Given the description of an element on the screen output the (x, y) to click on. 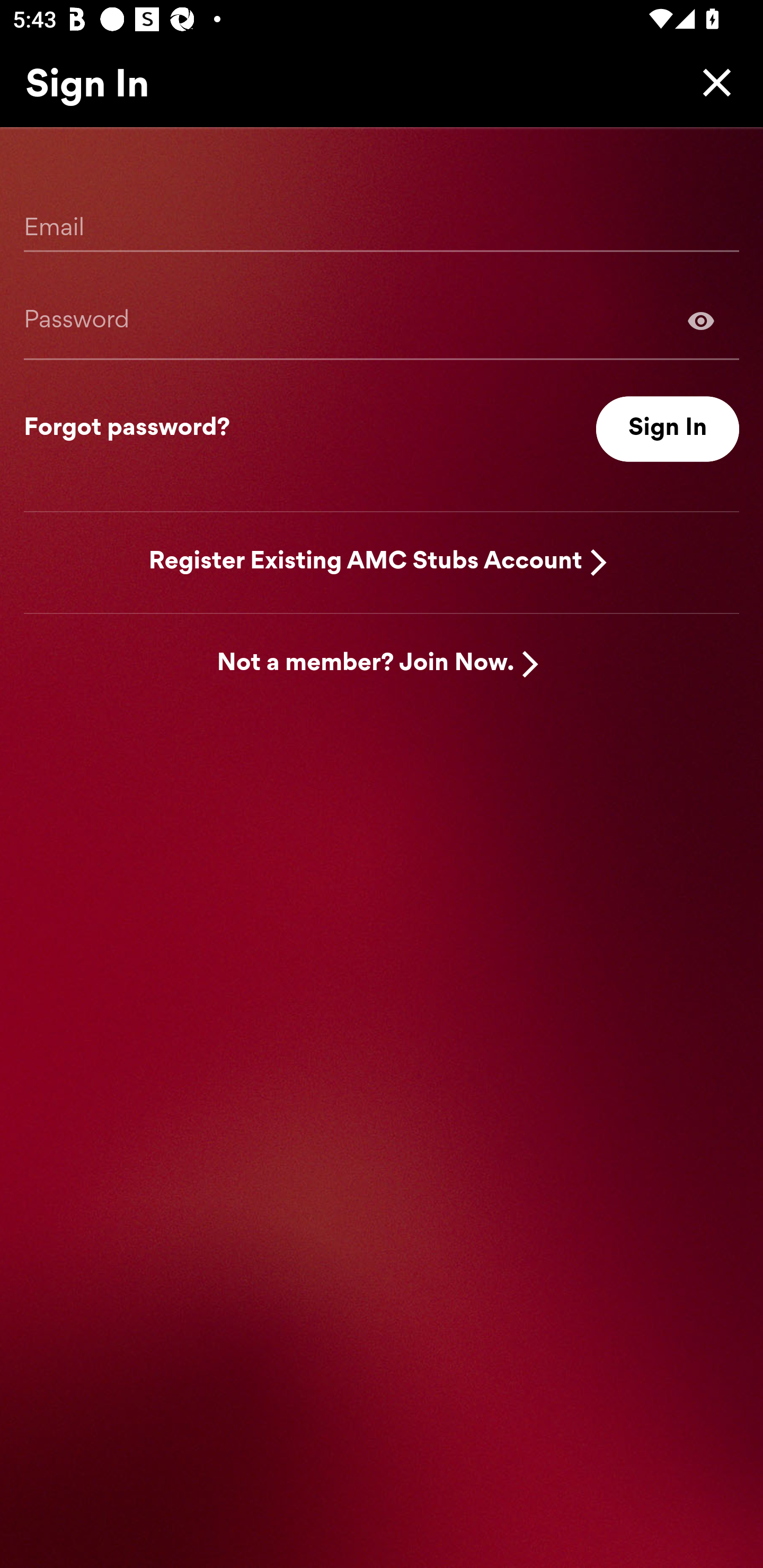
Close (712, 82)
Show Password (381, 320)
Show Password (701, 320)
Forgot password? (126, 428)
Sign In (667, 428)
Register Existing AMC Stubs Account (365, 561)
Not a member? Join Now. (365, 663)
